Given the description of an element on the screen output the (x, y) to click on. 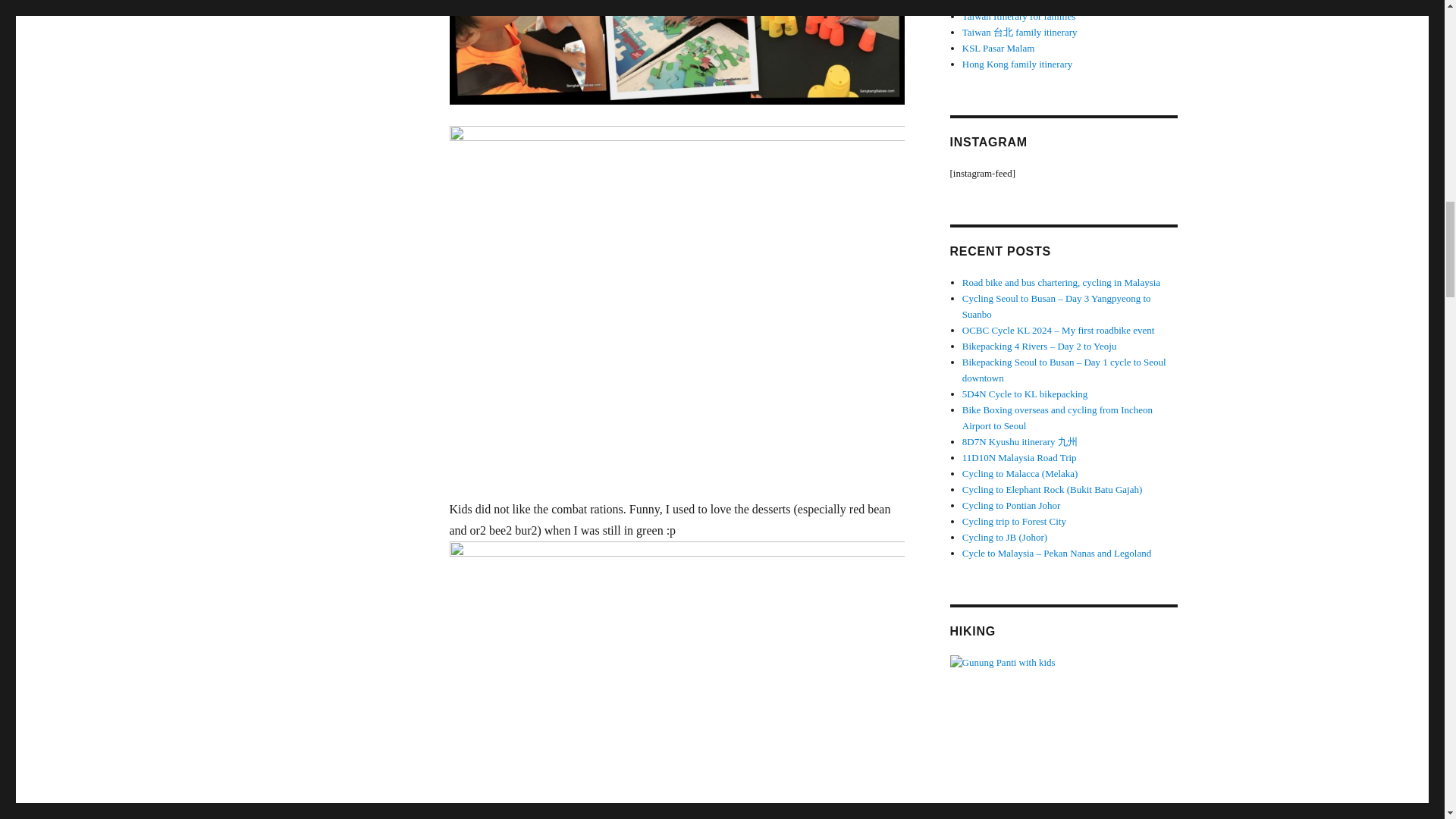
KSL Pasar Malam (998, 48)
Taiwan Itinerary for families (1018, 16)
Recommend Dashcam car camera (1029, 2)
Hong Kong family itinerary (1017, 63)
